Given the description of an element on the screen output the (x, y) to click on. 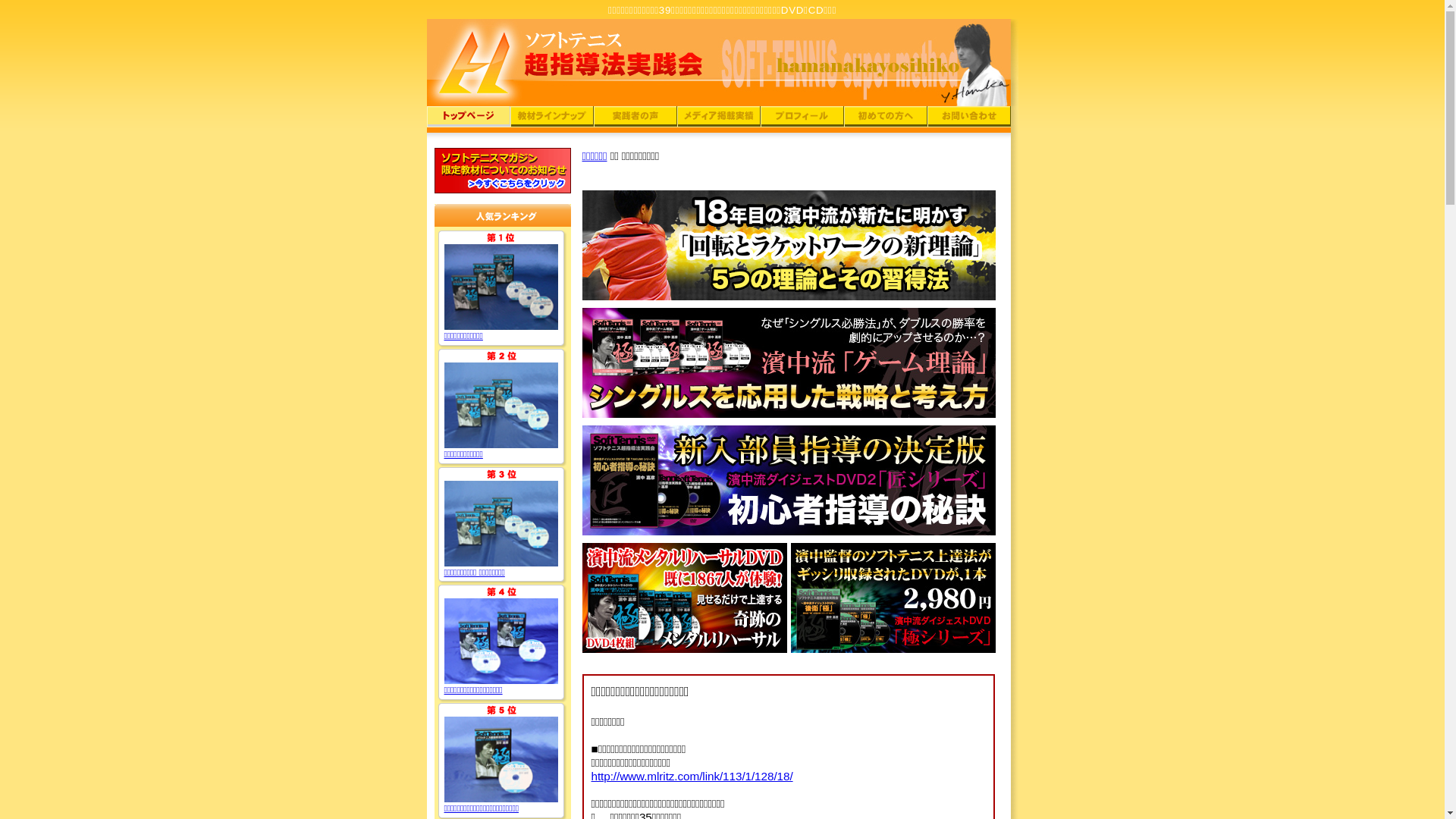
http://www.mlritz.com/link/113/1/128/18/ Element type: text (692, 775)
